Given the description of an element on the screen output the (x, y) to click on. 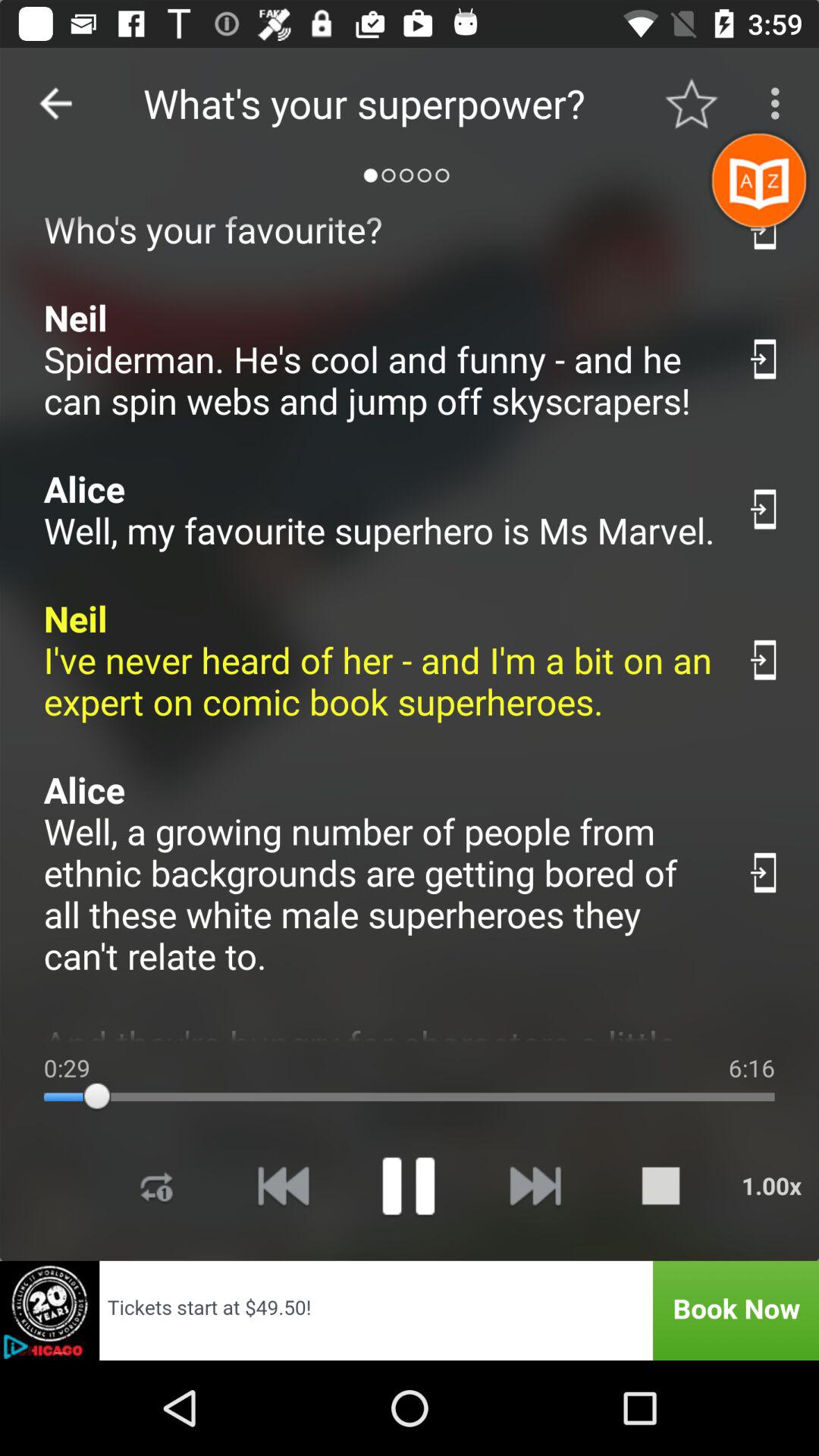
rewind (282, 1185)
